Given the description of an element on the screen output the (x, y) to click on. 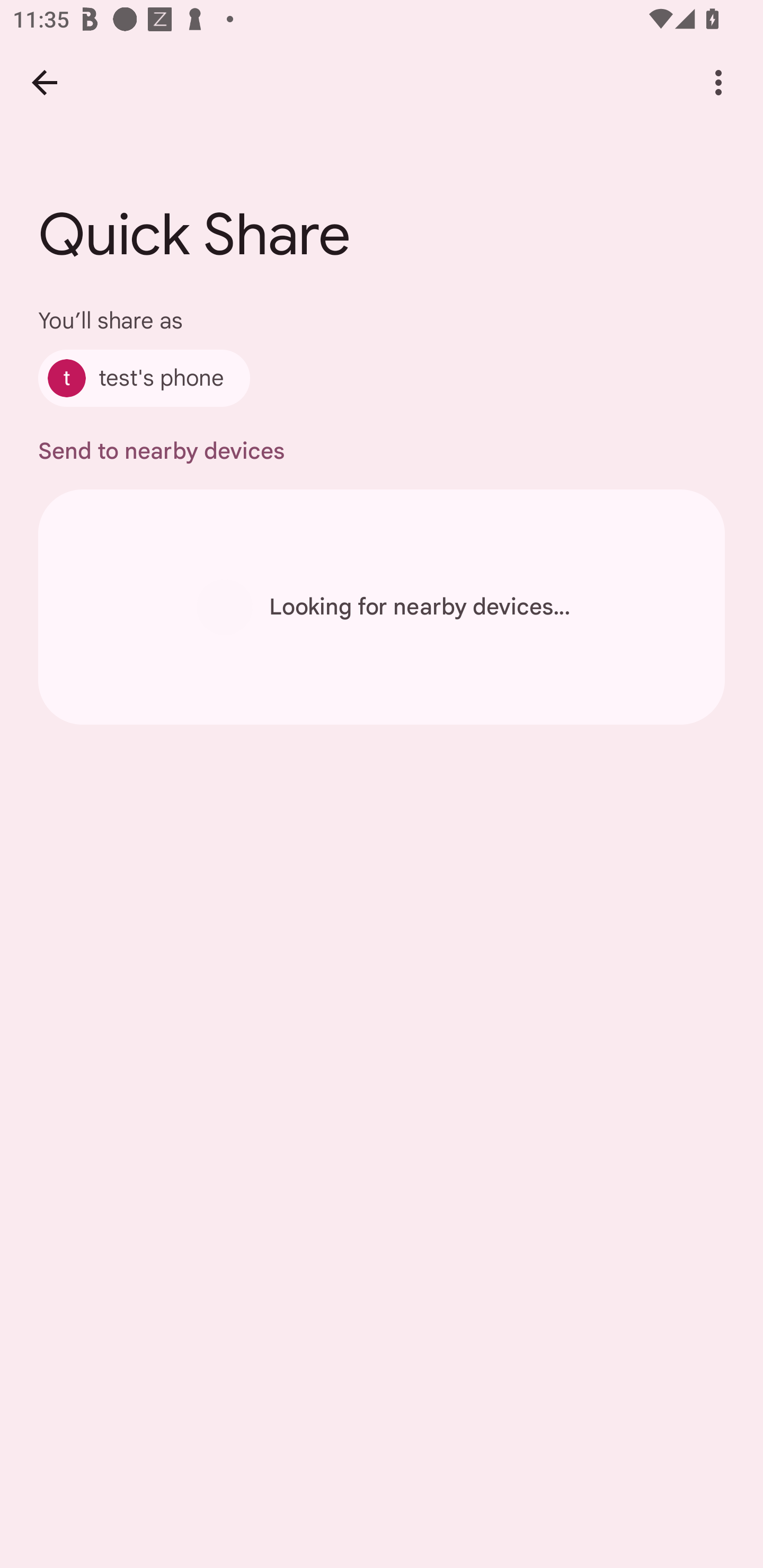
Back (44, 81)
More (718, 81)
test's phone (144, 378)
